Given the description of an element on the screen output the (x, y) to click on. 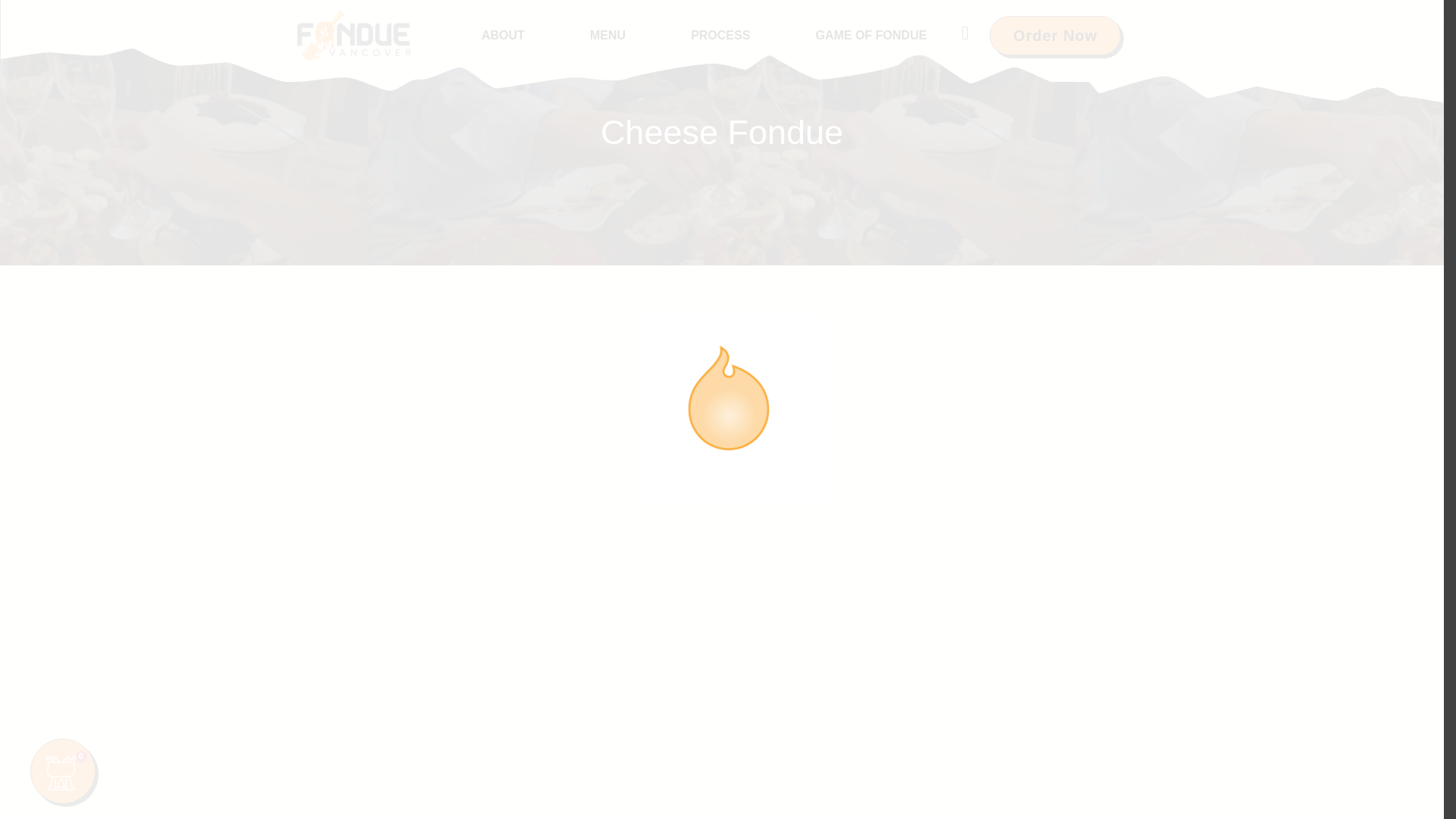
GAME OF FONDUE (871, 35)
Order Now (1055, 35)
ABOUT (502, 35)
MENU (607, 35)
PROCESS (719, 35)
0 (63, 770)
